Given the description of an element on the screen output the (x, y) to click on. 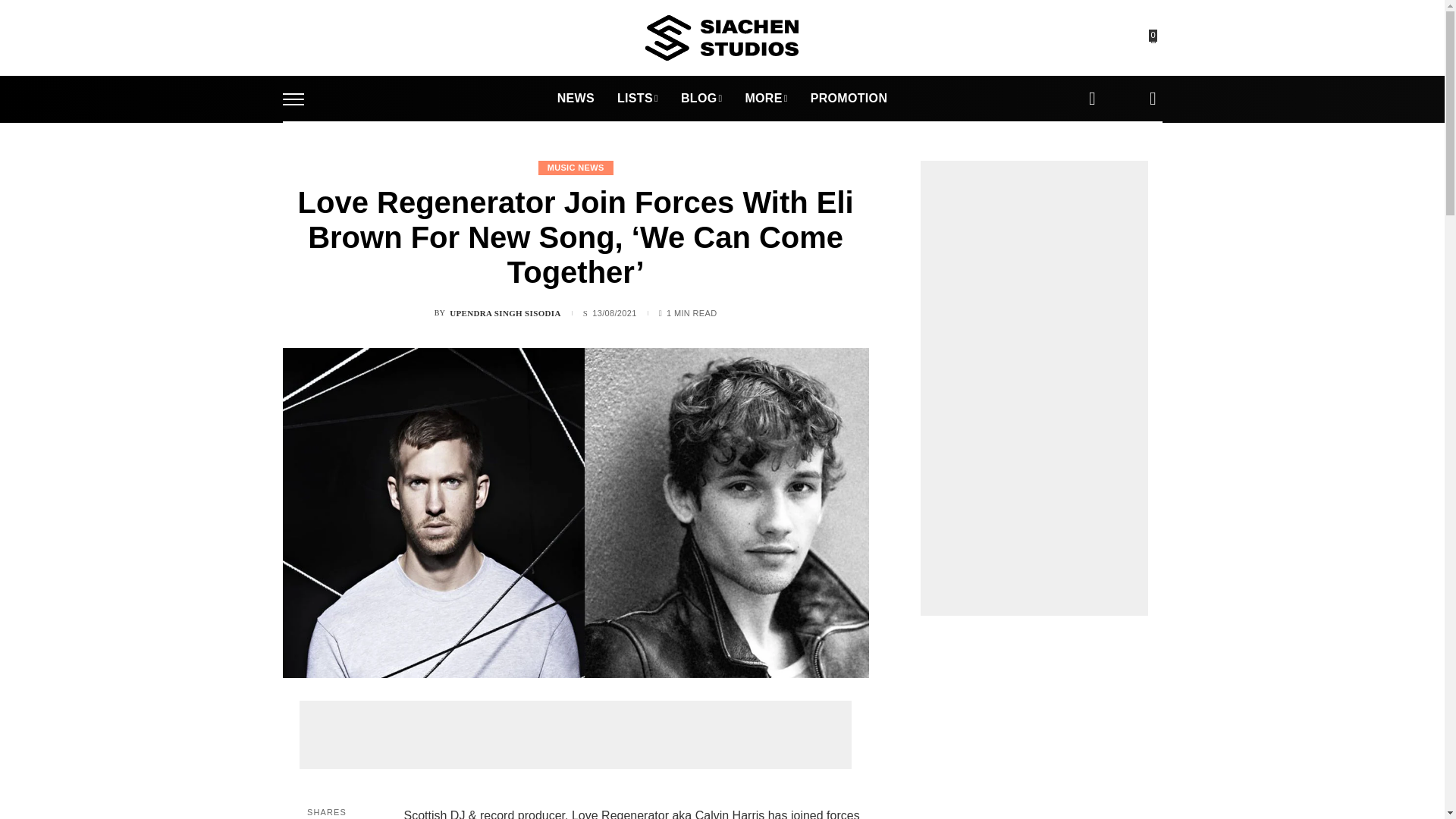
LISTS (637, 98)
NEWS (575, 98)
Siachen Studios (721, 37)
